Given the description of an element on the screen output the (x, y) to click on. 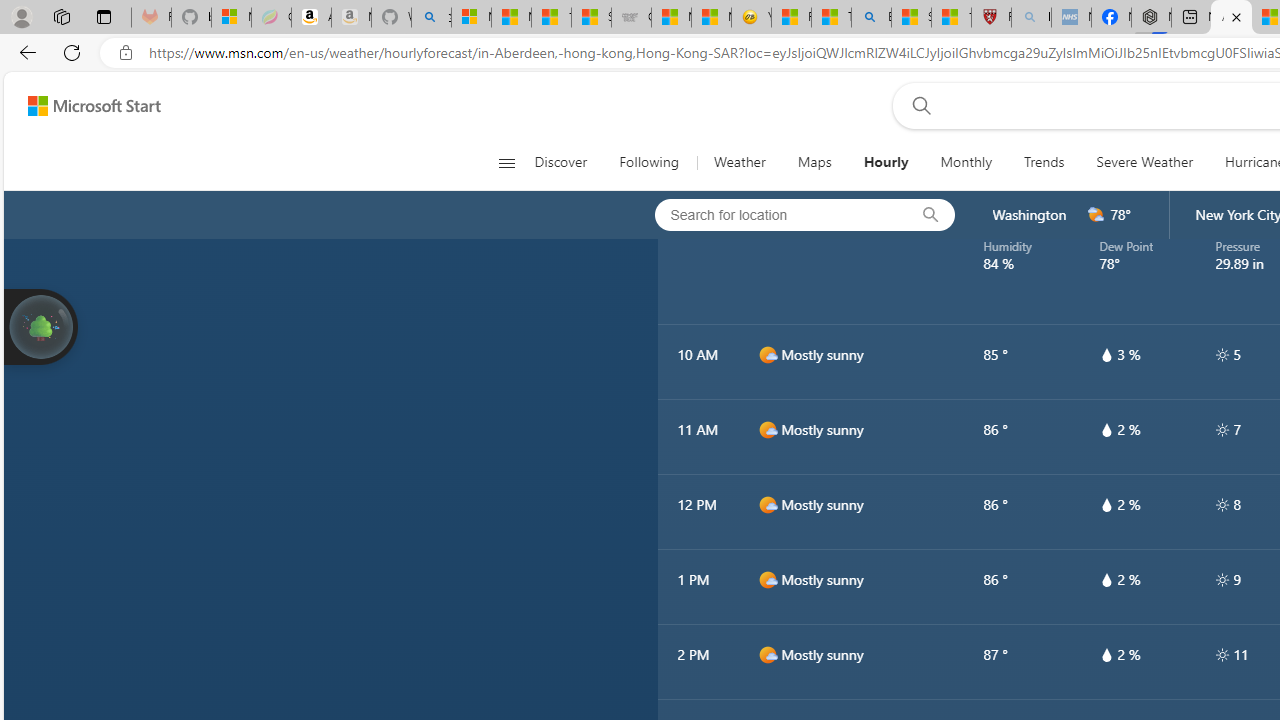
Join us in planting real trees to help our planet! (40, 327)
hourlyTable/drop (1106, 654)
